Given the description of an element on the screen output the (x, y) to click on. 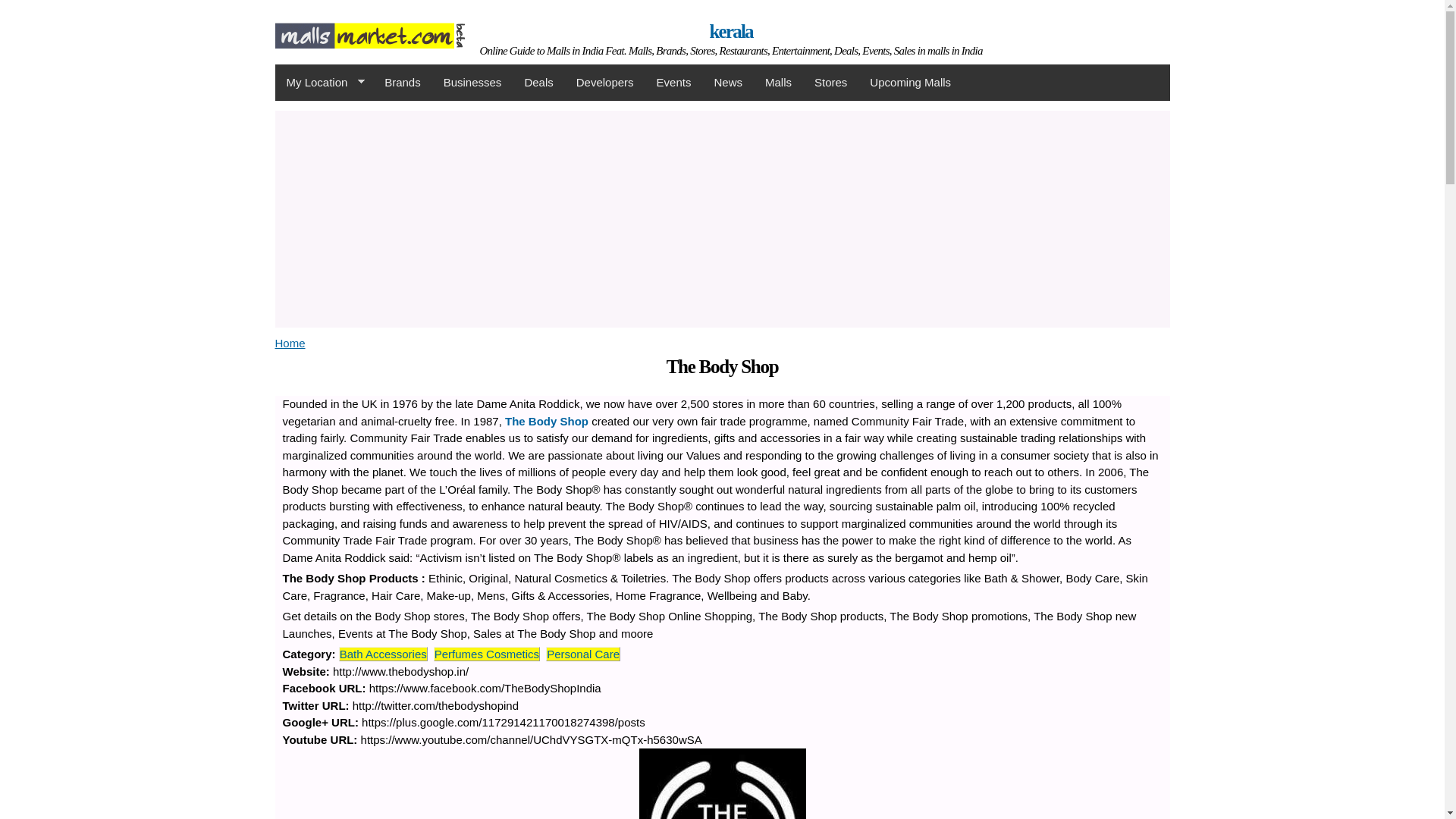
Upcoming Malls (910, 82)
Businesses (472, 82)
Home (289, 342)
Brands (402, 82)
The best deals from stores and malls in your city. (538, 82)
Developers (604, 82)
Stores (831, 82)
Perfumes Cosmetics (485, 653)
News (727, 82)
Personal Care (583, 653)
kerala (369, 39)
Bath Accessories (382, 653)
The Body Shop (546, 420)
Skip to main content (688, 1)
Deals (538, 82)
